Given the description of an element on the screen output the (x, y) to click on. 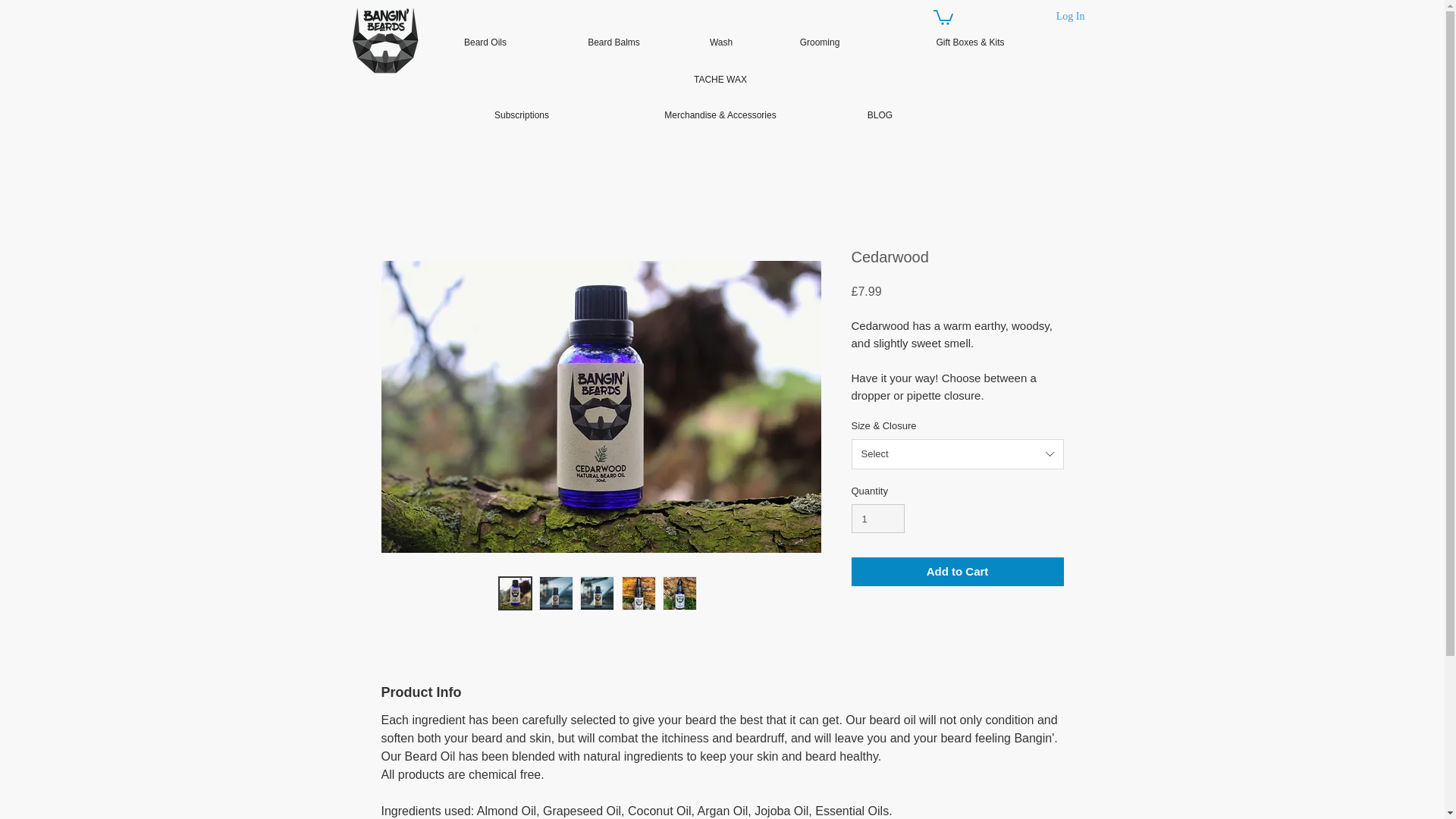
Subscriptions (521, 115)
Add to Cart (956, 572)
Log In (1070, 16)
Wash (720, 42)
TACHE WAX (720, 80)
Grooming (818, 42)
Beard Balms (613, 42)
Select (956, 453)
BLOG (880, 115)
Beard Oils (484, 42)
1 (877, 518)
